Given the description of an element on the screen output the (x, y) to click on. 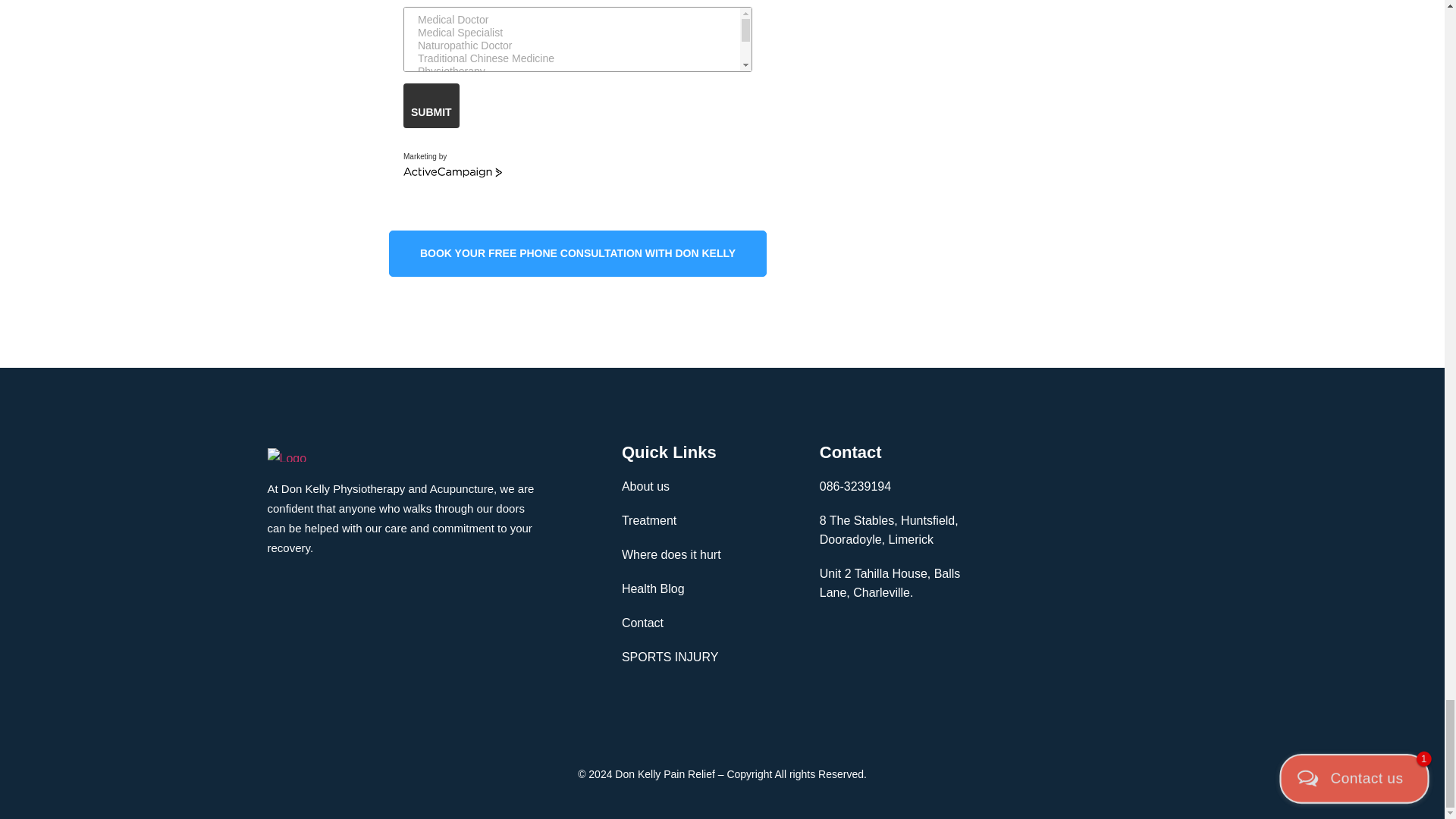
SUBMIT (431, 105)
ActiveCampaign (452, 172)
BOOK YOUR FREE PHONE CONSULTATION WITH DON KELLY (577, 253)
